Given the description of an element on the screen output the (x, y) to click on. 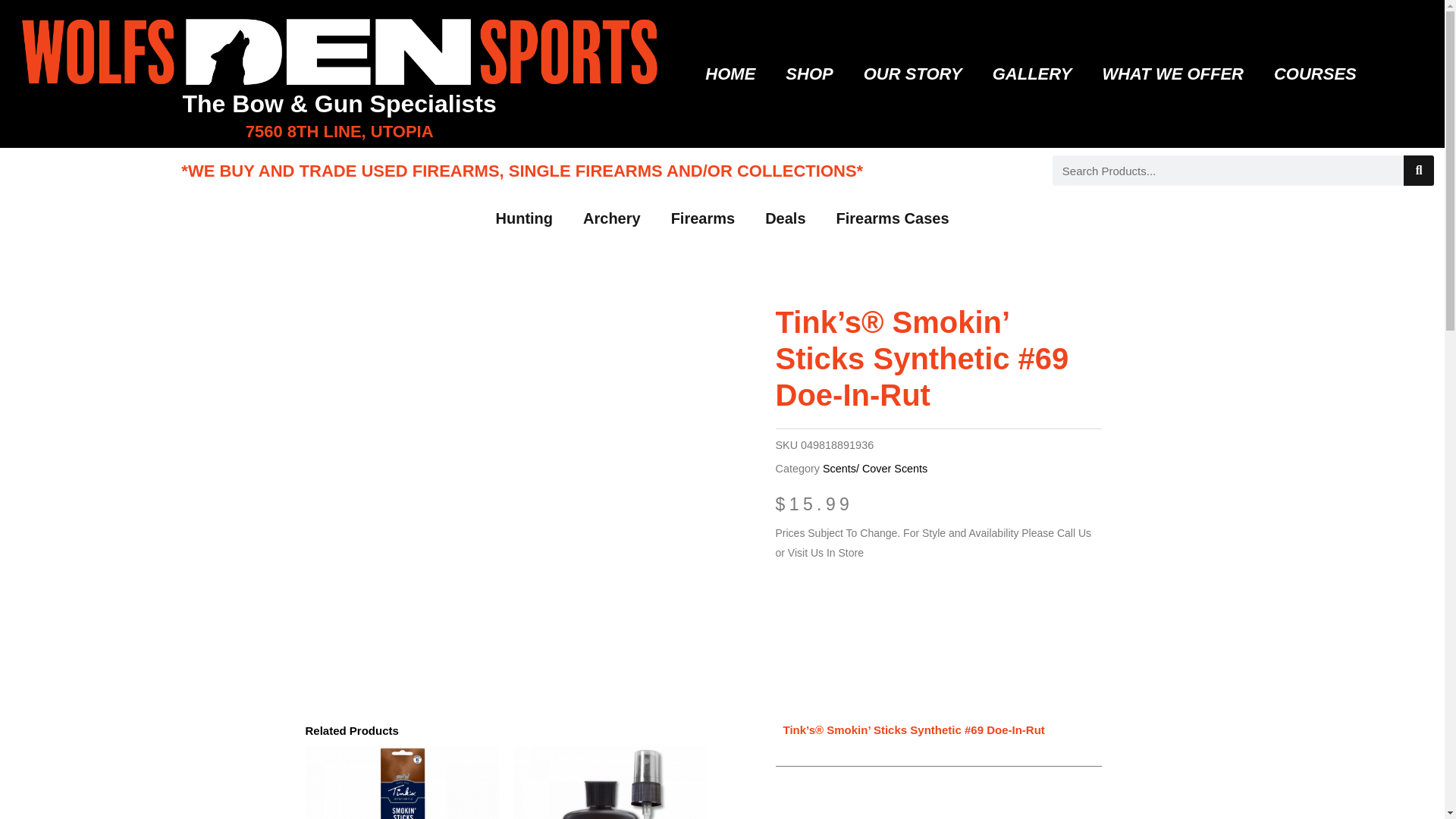
SHOP (809, 74)
OUR STORY (912, 74)
COURSES (1315, 74)
HOME (730, 74)
GALLERY (1032, 74)
Hunting (524, 217)
WHAT WE OFFER (1172, 74)
